Given the description of an element on the screen output the (x, y) to click on. 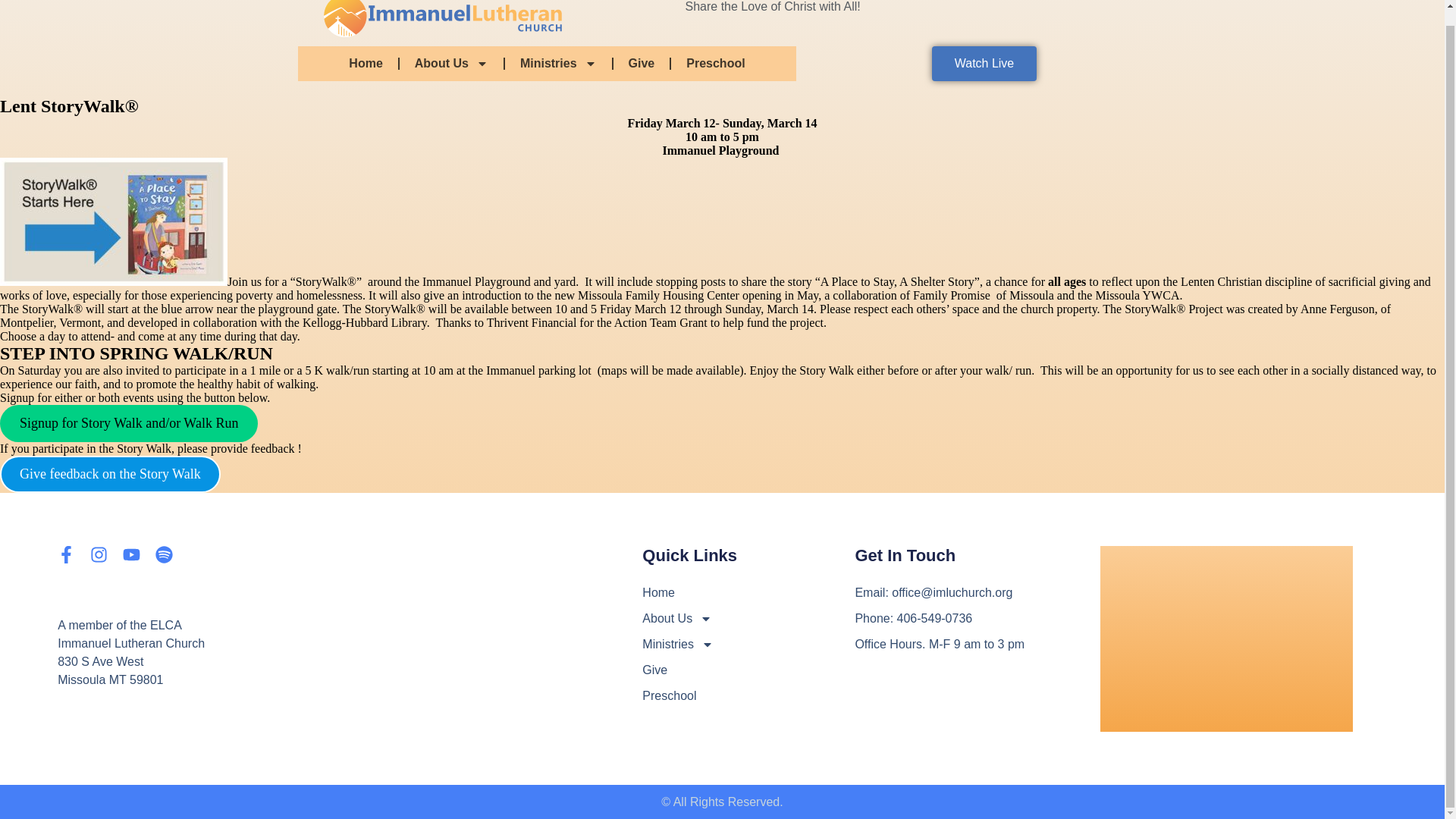
Ministries (558, 63)
Home (365, 63)
Immanuel Lutheran Missoula (1226, 639)
Preschool (715, 63)
Give (640, 63)
About Us (450, 63)
Give feedback on the Story Walk (110, 474)
Watch Live (983, 63)
